Given the description of an element on the screen output the (x, y) to click on. 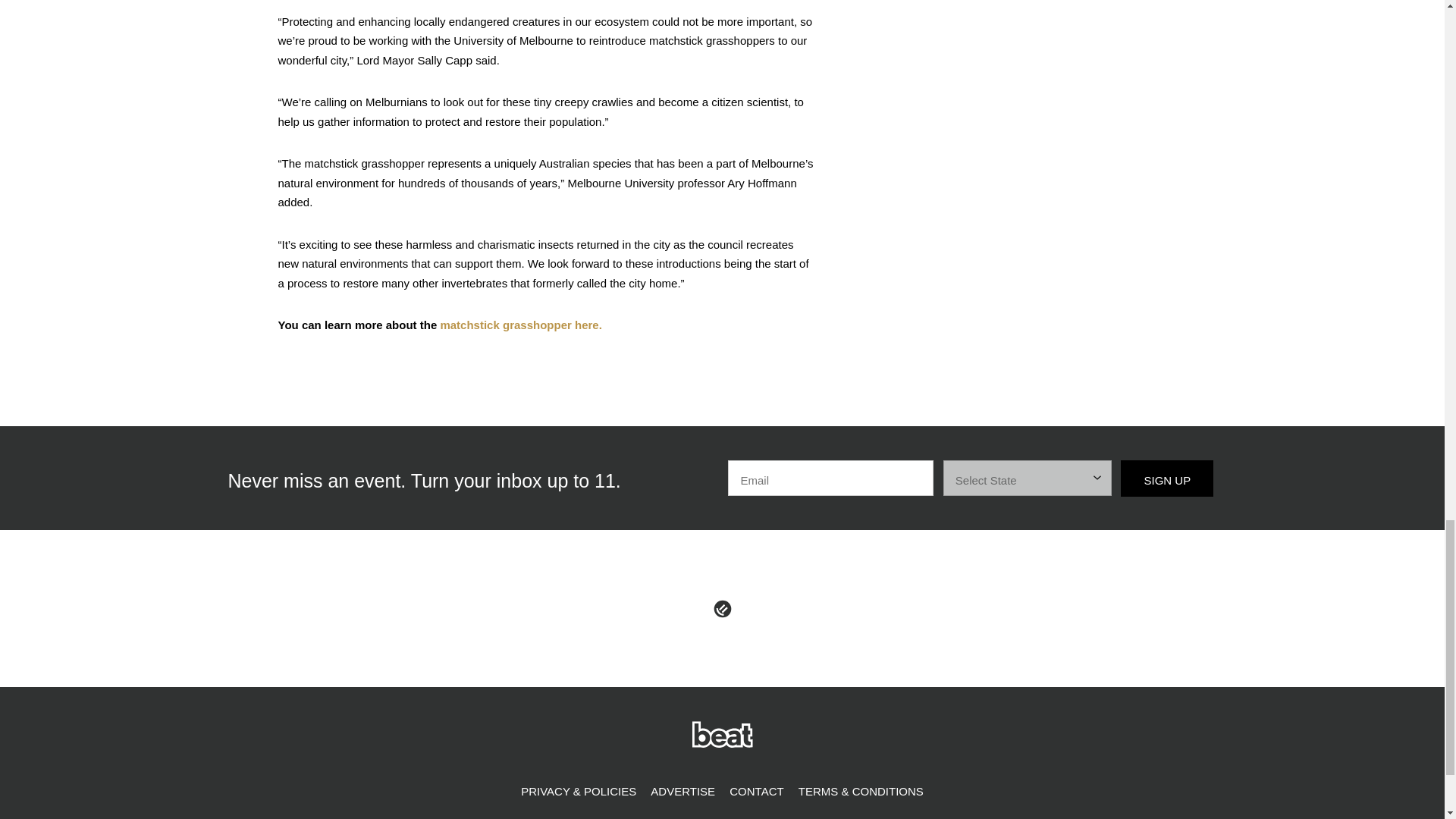
matchstick grasshopper here. (520, 324)
ADVERTISE (682, 791)
3rd party ad content (1052, 61)
CONTACT (756, 791)
SIGN UP (1166, 478)
